Given the description of an element on the screen output the (x, y) to click on. 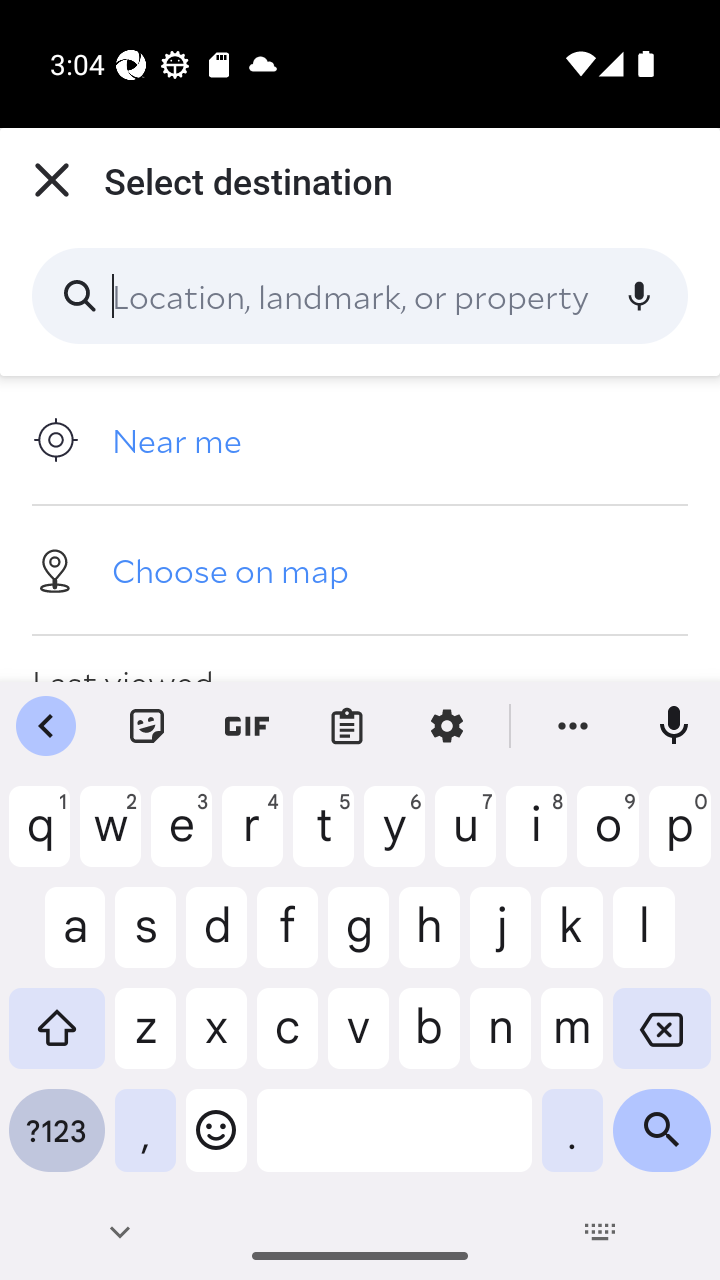
Location, landmark, or property (359, 296)
Near me (360, 440)
Choose on map (360, 569)
